Given the description of an element on the screen output the (x, y) to click on. 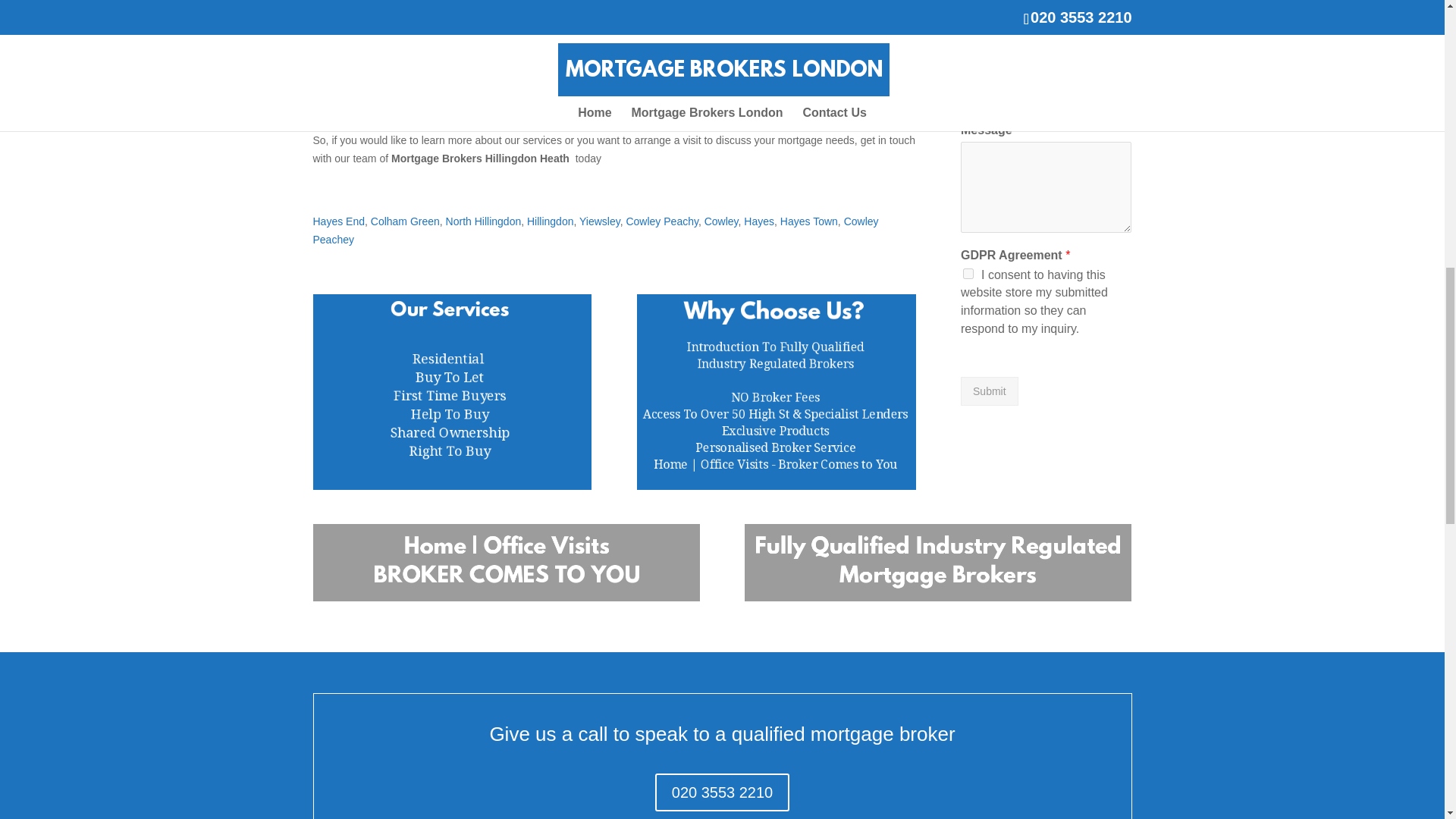
Hayes (759, 221)
Hayes Town (809, 221)
Cowley Peachy (661, 221)
North Hillingdon (483, 221)
Hayes End (338, 221)
020 3553 2210 (722, 792)
Submit (988, 390)
Cowley (721, 221)
Yiewsley (599, 221)
Colham Green (405, 221)
Cowley Peachey (595, 230)
Hillingdon (550, 221)
